Given the description of an element on the screen output the (x, y) to click on. 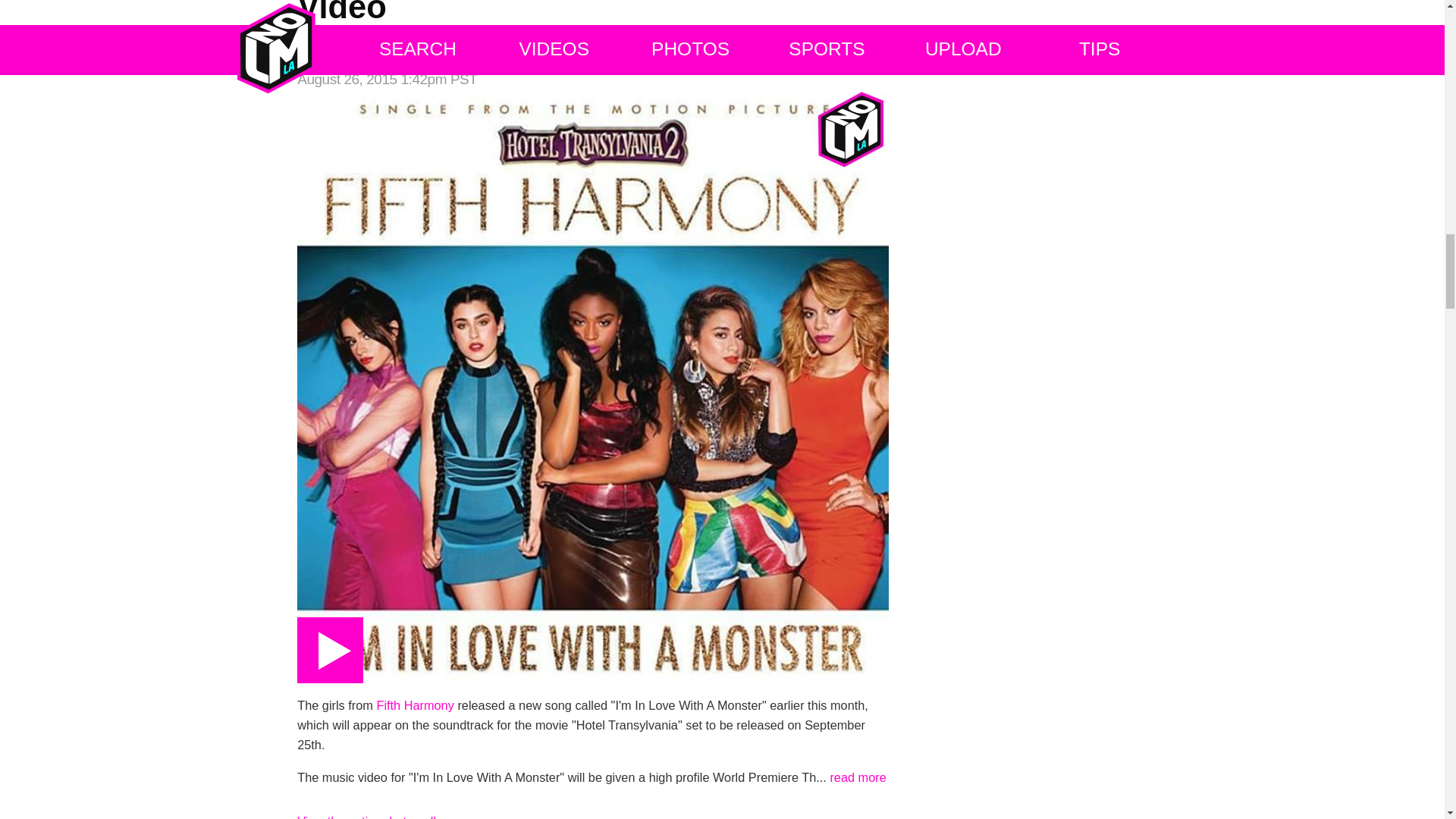
Fifth Harmony (413, 704)
